Given the description of an element on the screen output the (x, y) to click on. 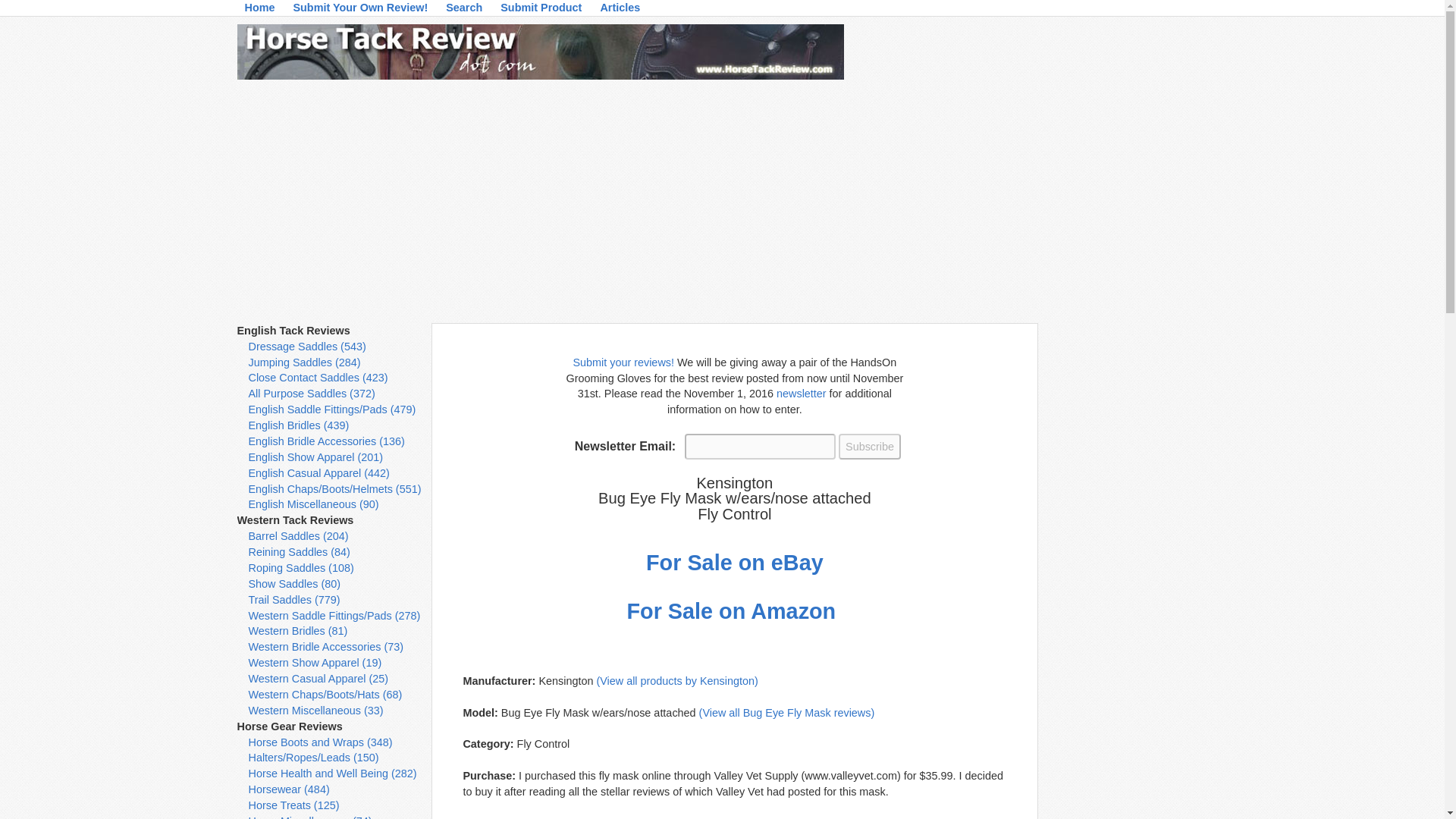
Articles (619, 10)
Submit Your Own Review! (360, 10)
Submit Product (541, 10)
Subscribe (869, 446)
Home (258, 10)
Search (463, 10)
